Given the description of an element on the screen output the (x, y) to click on. 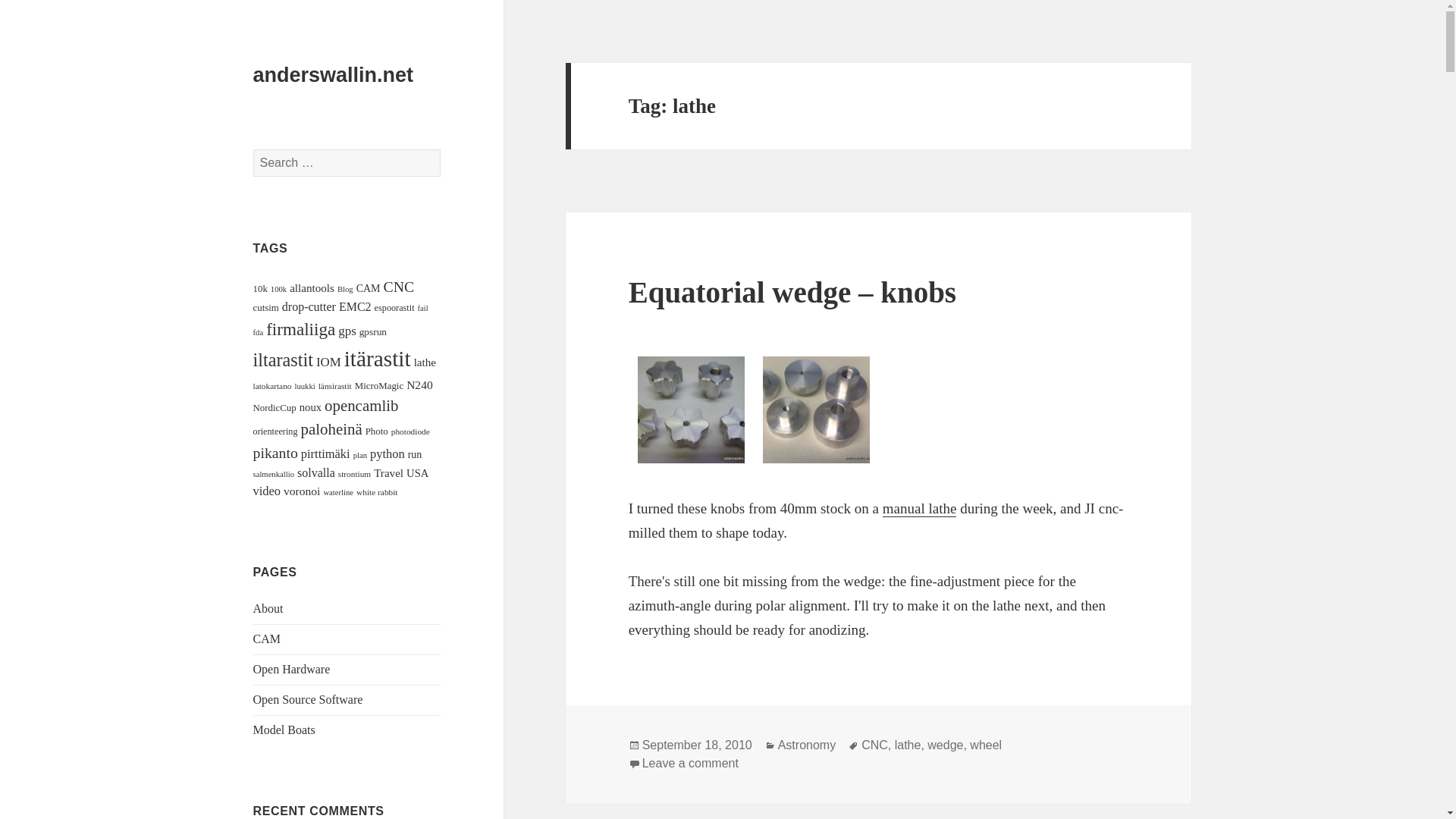
Photo (376, 430)
N240 (419, 384)
photodiode (410, 430)
CNC (399, 286)
lathe (424, 362)
orienteering (275, 430)
IOM (327, 361)
MicroMagic (379, 385)
